Given the description of an element on the screen output the (x, y) to click on. 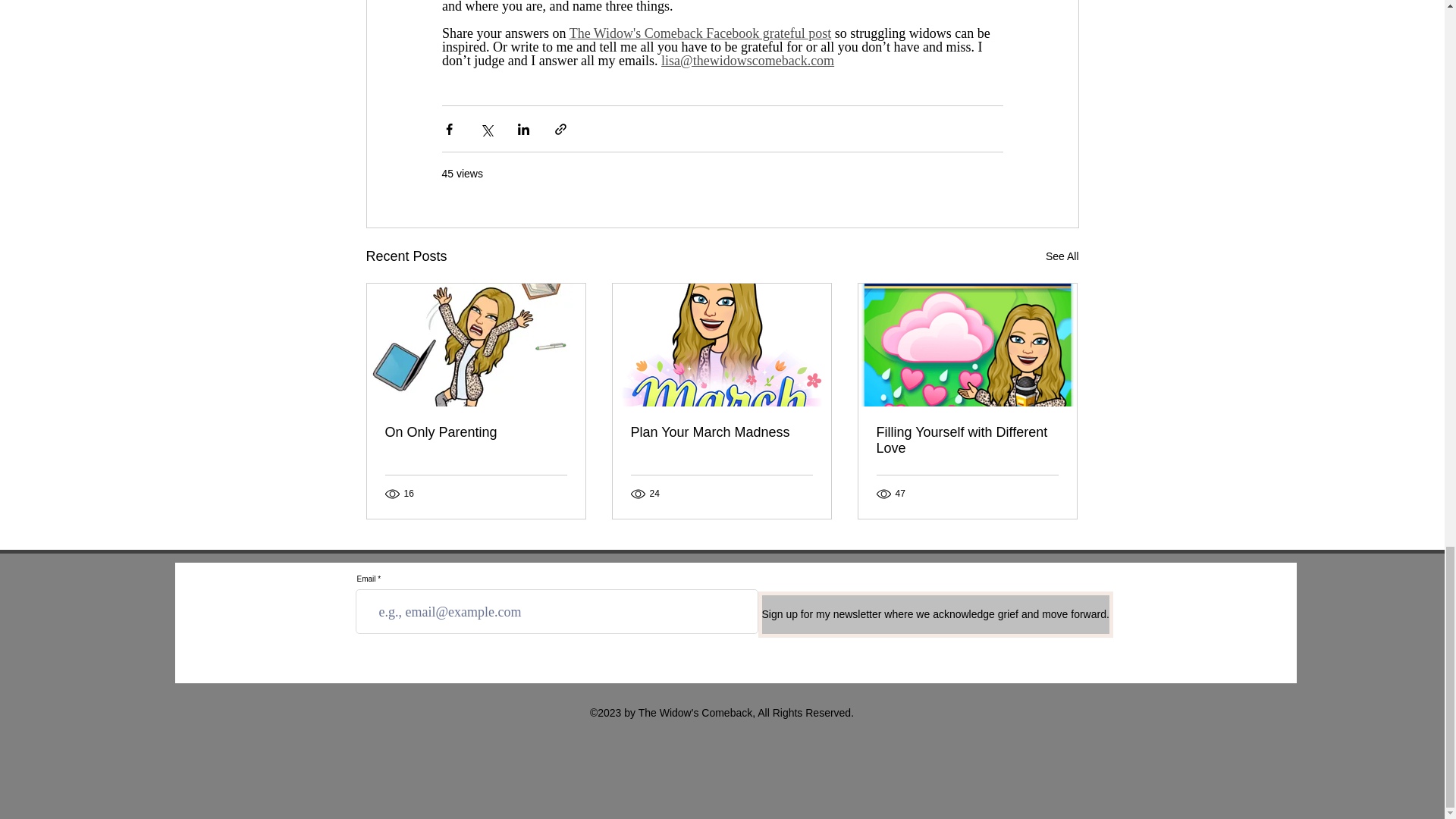
See All (1061, 256)
Filling Yourself with Different Love (967, 440)
On Only Parenting (476, 432)
Plan Your March Madness (721, 432)
The Widow's Comeback Facebook grateful post (700, 32)
